Given the description of an element on the screen output the (x, y) to click on. 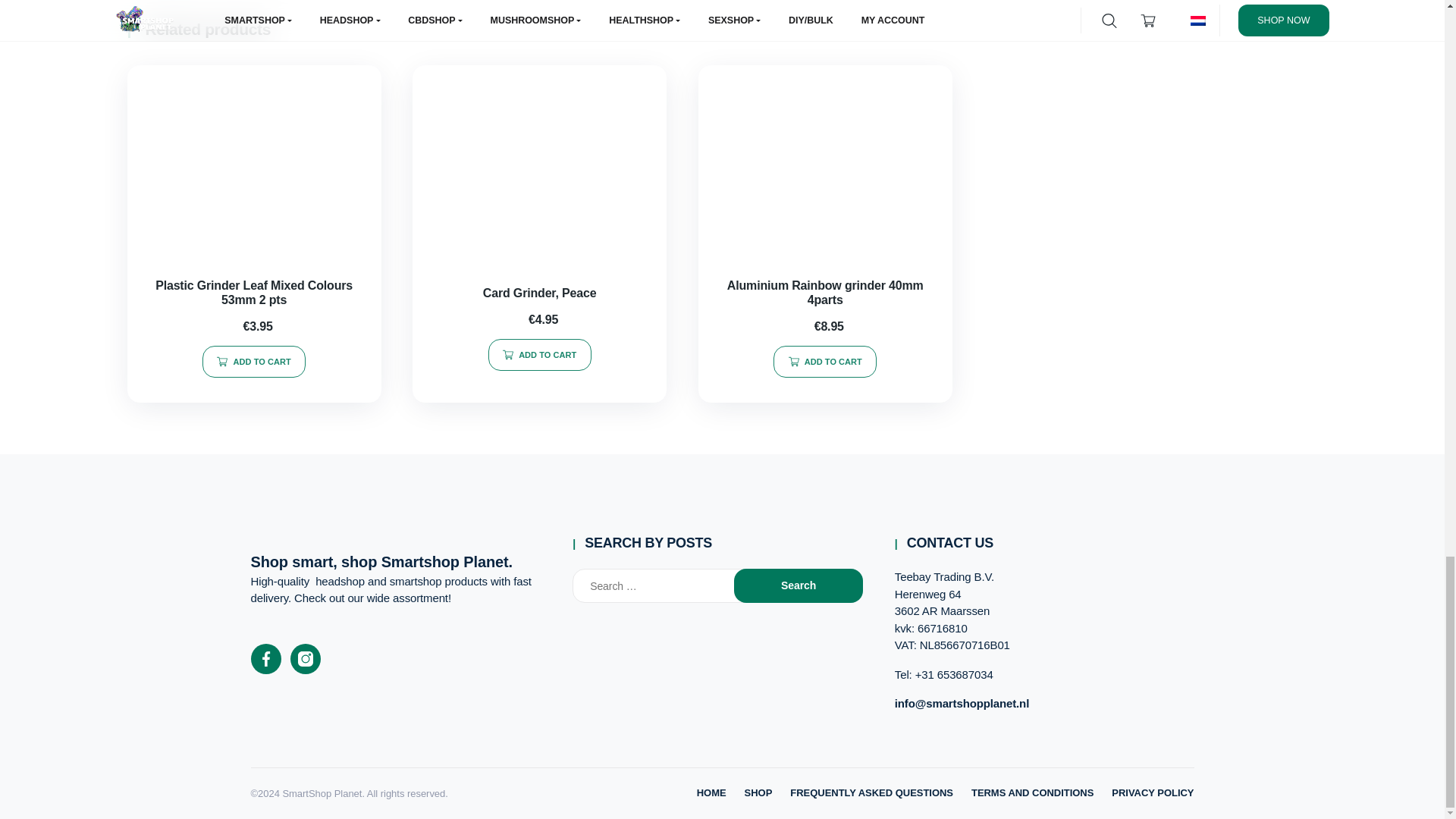
Search (798, 585)
Minimum qty is 0 (253, 361)
Minimum qty is 0 (824, 361)
Search (798, 585)
Search for: (668, 585)
Minimum qty is 0 (539, 355)
